Given the description of an element on the screen output the (x, y) to click on. 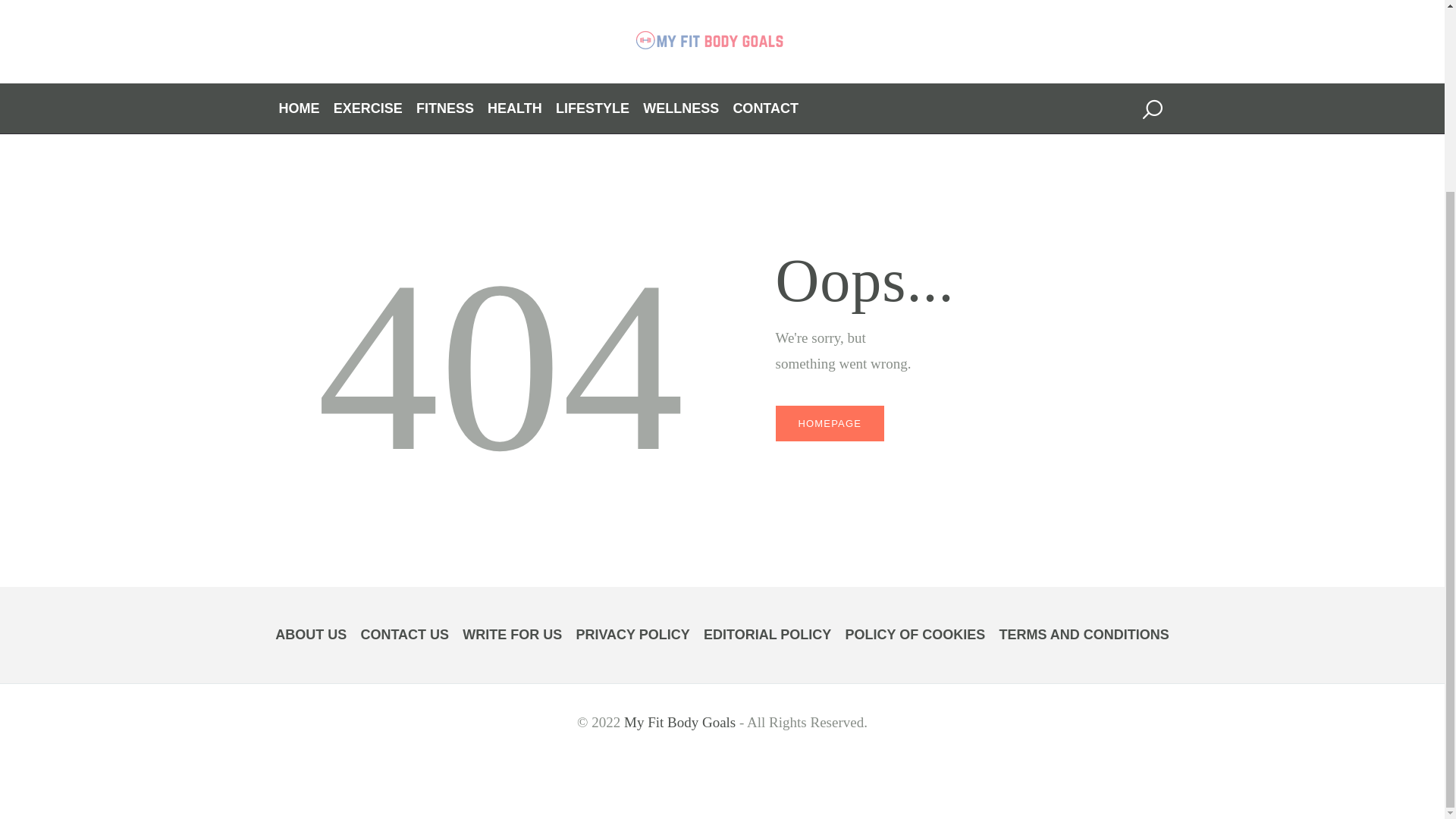
CONTACT US (403, 634)
HOMEPAGE (828, 423)
ABOUT US (310, 634)
My Fit Body Goals (679, 722)
LIFESTYLE (592, 109)
TERMS AND CONDITIONS (1083, 634)
CONTACT (764, 109)
EDITORIAL POLICY (767, 634)
POLICY OF COOKIES (915, 634)
FITNESS (445, 109)
HOME (299, 109)
EXERCISE (368, 109)
WELLNESS (681, 109)
PRIVACY POLICY (631, 634)
WRITE FOR US (512, 634)
